Given the description of an element on the screen output the (x, y) to click on. 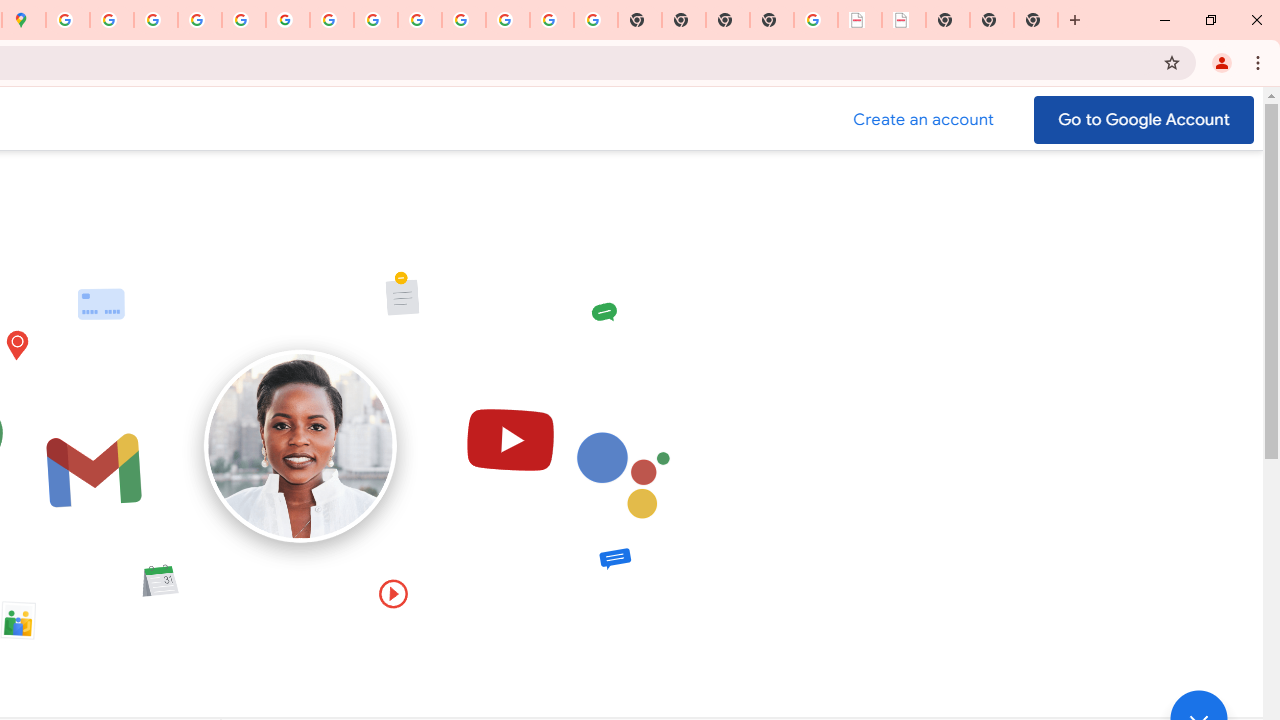
Go to your Google Account (1144, 119)
Privacy Help Center - Policies Help (155, 20)
New Tab (771, 20)
BAE Systems Brasil | BAE Systems (903, 20)
